Given the description of an element on the screen output the (x, y) to click on. 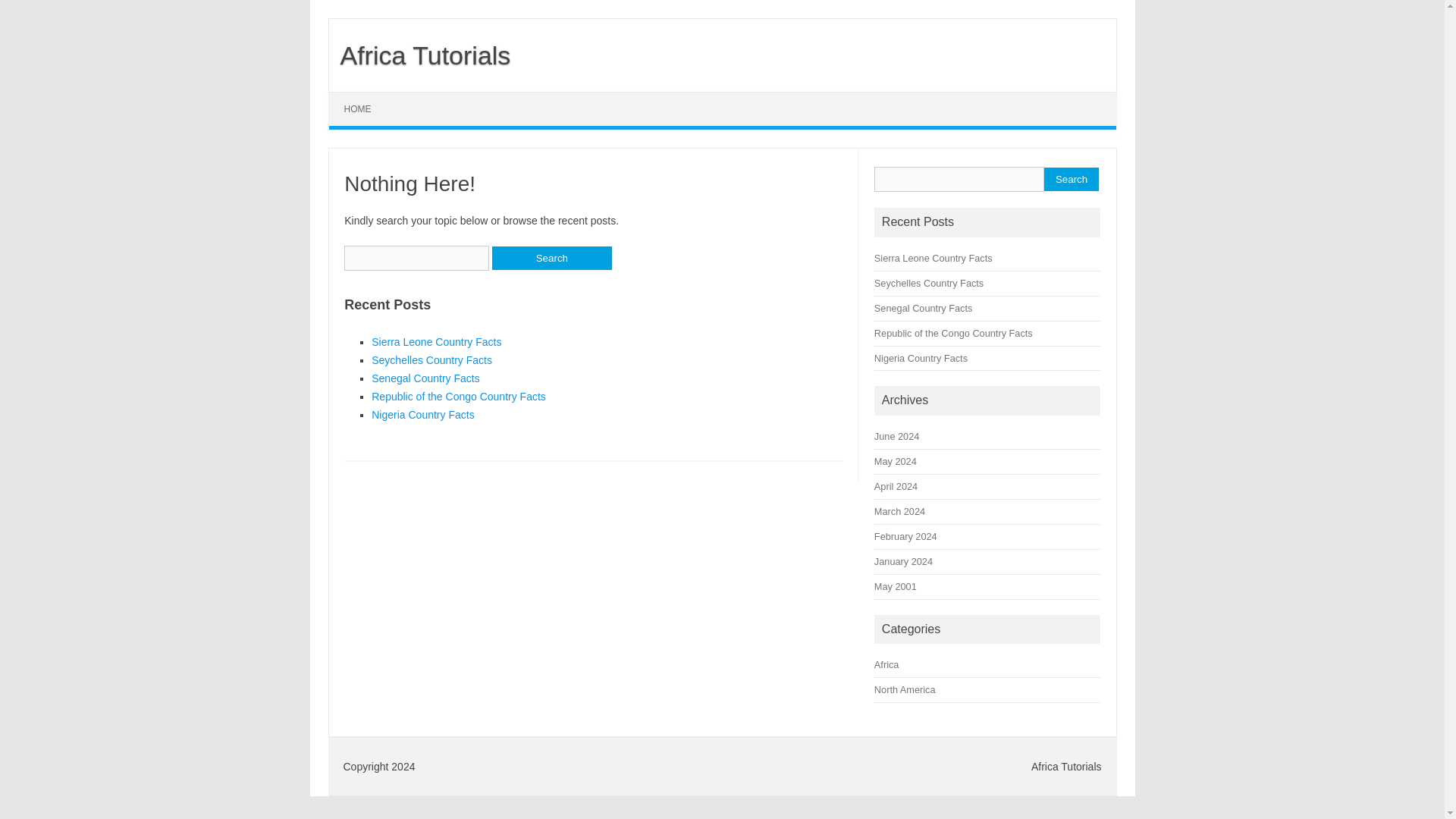
May 2001 (896, 586)
January 2024 (904, 561)
Senegal Country Facts (923, 307)
Skip to content (363, 96)
Nigeria Country Facts (921, 357)
May 2024 (896, 460)
Africa Tutorials (420, 54)
Sierra Leone Country Facts (435, 341)
North America (905, 689)
Search (551, 258)
Seychelles Country Facts (929, 283)
HOME (358, 109)
June 2024 (896, 436)
Senegal Country Facts (425, 378)
Africa Tutorials (420, 54)
